Given the description of an element on the screen output the (x, y) to click on. 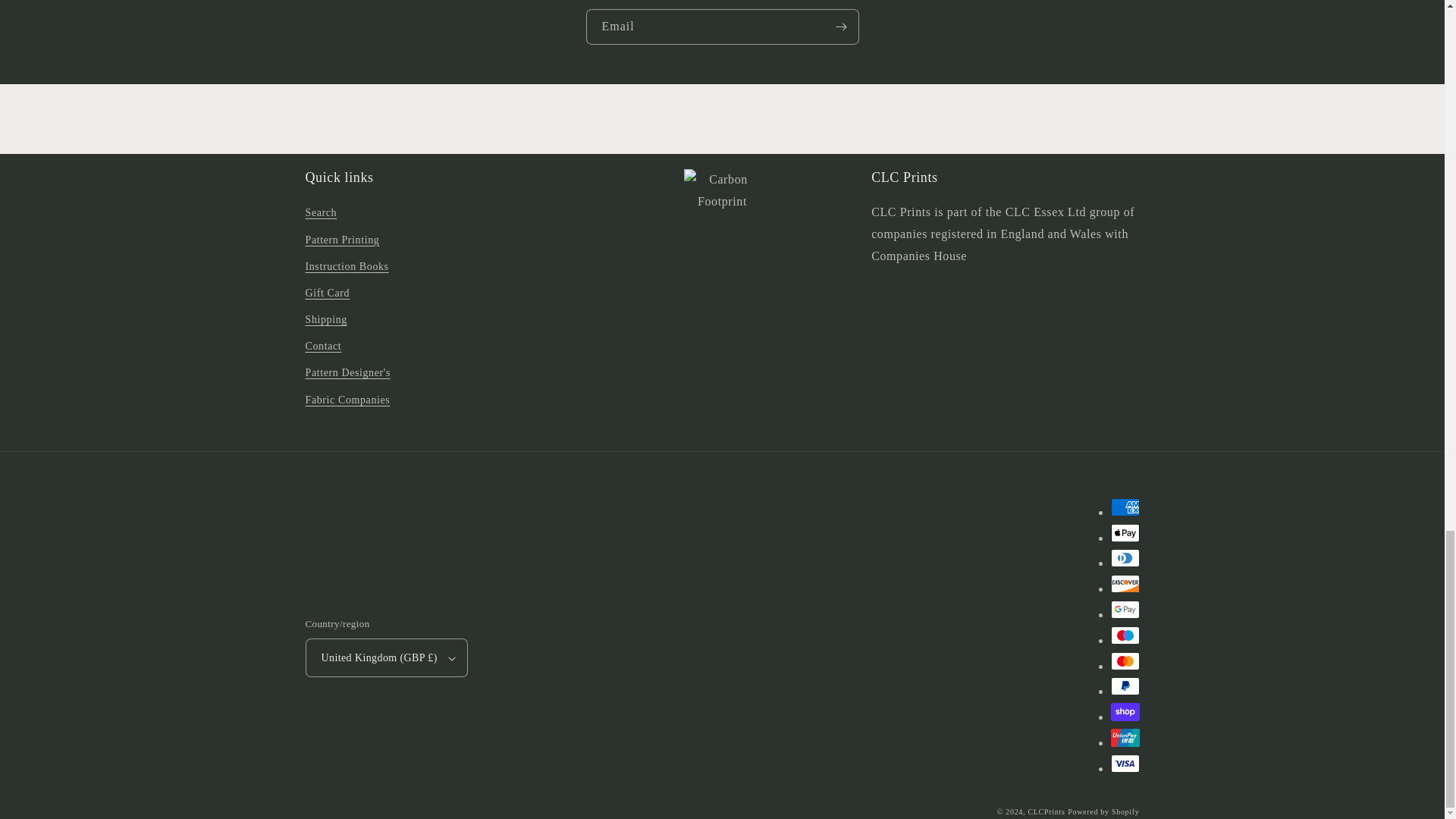
Discover (1123, 583)
American Express (1123, 506)
Diners Club (1123, 557)
Google Pay (1123, 609)
Maestro (1123, 635)
Apple Pay (1123, 533)
